Given the description of an element on the screen output the (x, y) to click on. 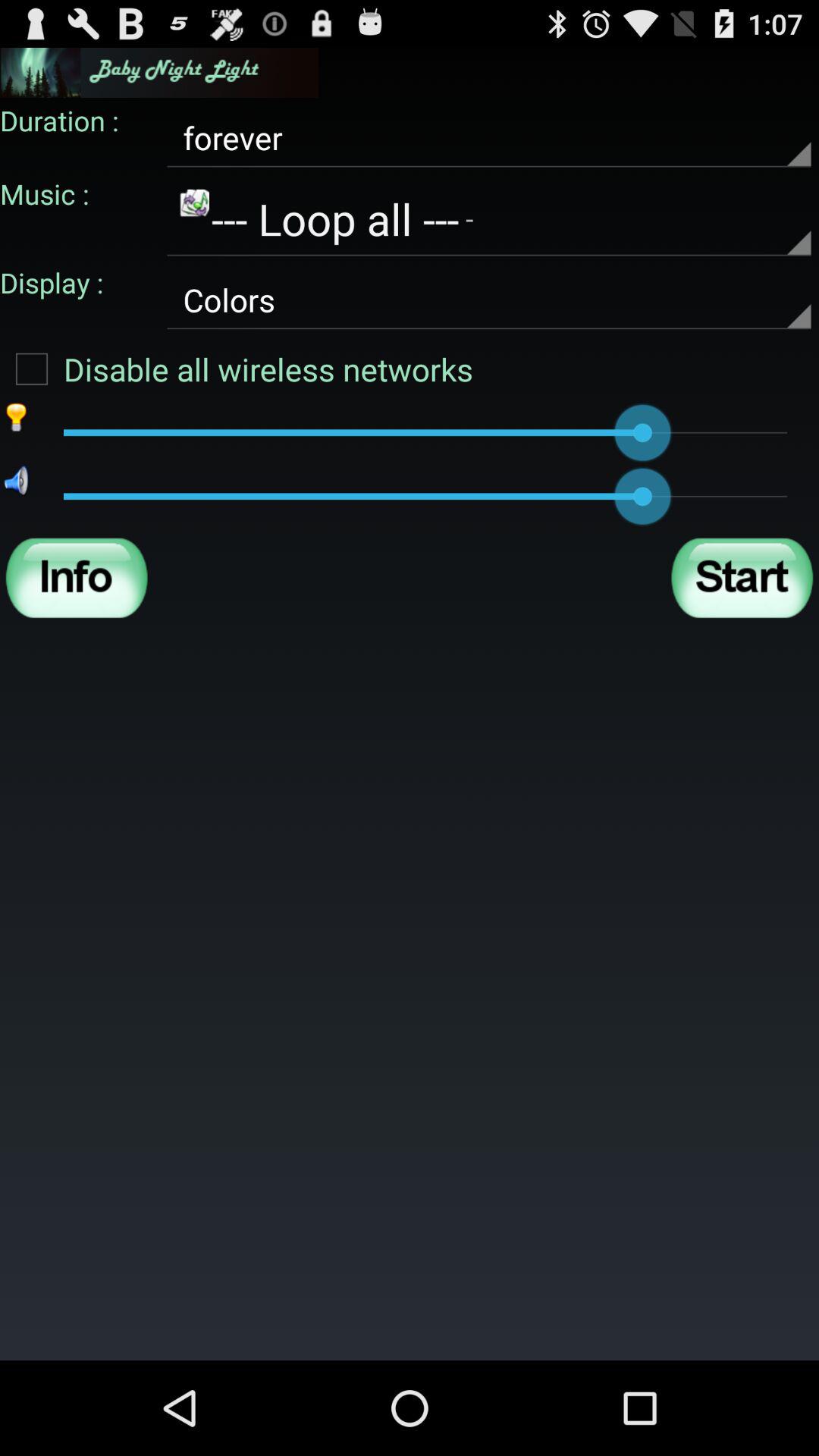
tap item below colors app (236, 368)
